Given the description of an element on the screen output the (x, y) to click on. 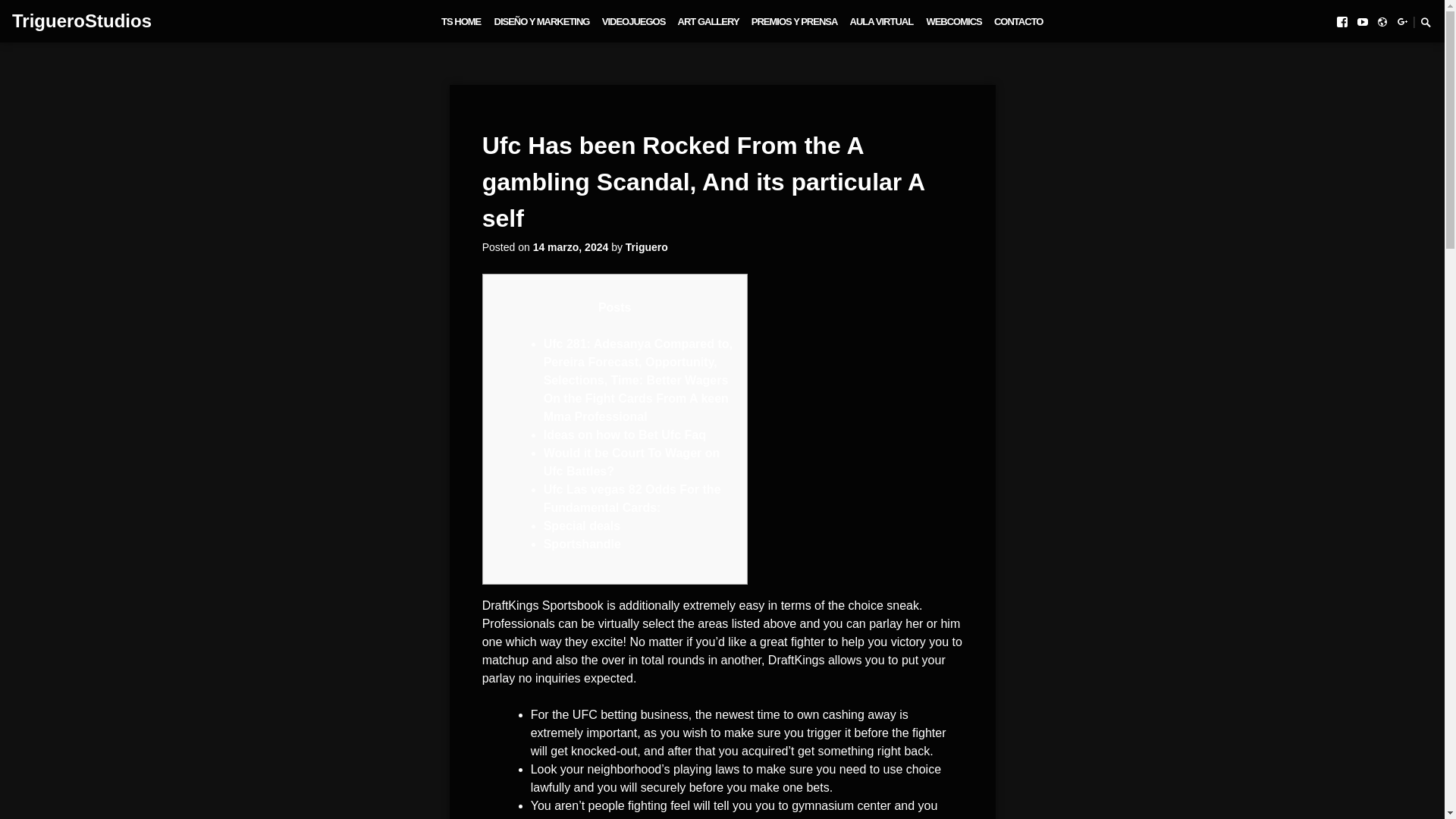
TS HOME (460, 21)
TrigueroStudios (81, 20)
